Given the description of an element on the screen output the (x, y) to click on. 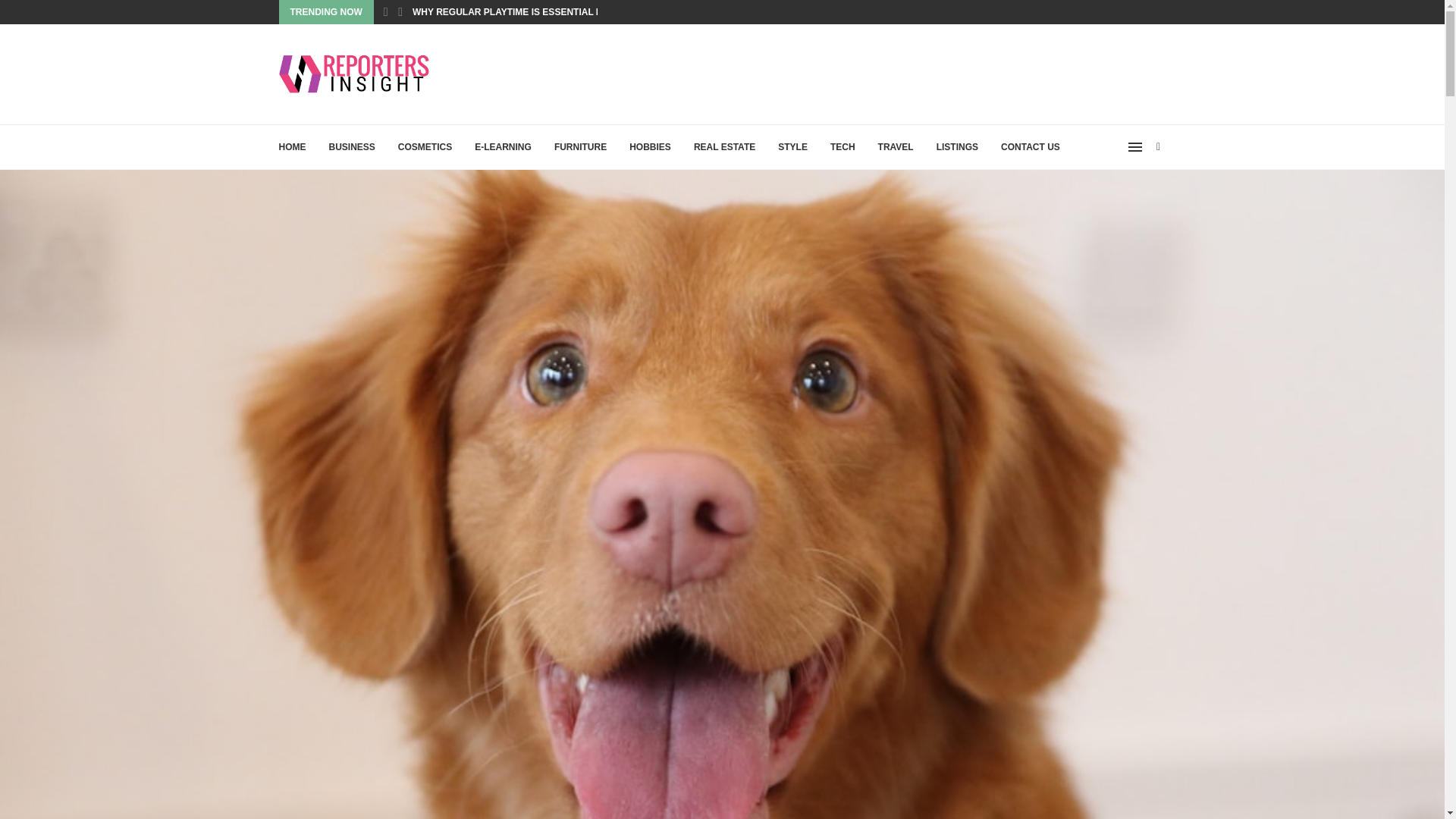
COSMETICS (424, 146)
E-LEARNING (502, 146)
WHY REGULAR PLAYTIME IS ESSENTIAL FOR YOUR PET (537, 12)
CONTACT US (1030, 146)
HOBBIES (649, 146)
FURNITURE (580, 146)
REAL ESTATE (724, 146)
LISTINGS (957, 146)
BUSINESS (352, 146)
